Given the description of an element on the screen output the (x, y) to click on. 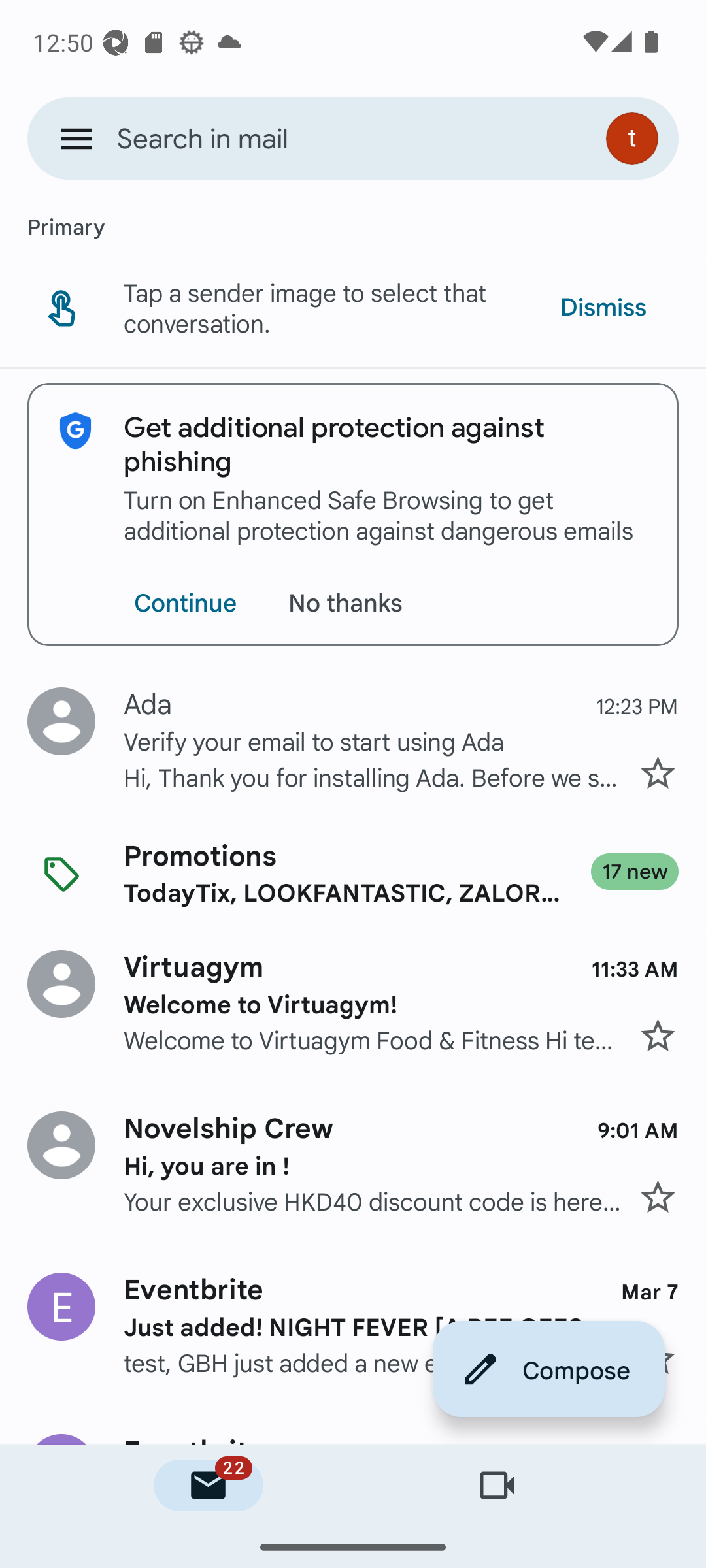
Open navigation drawer (75, 138)
Dismiss Dismiss tip (602, 306)
Continue (185, 601)
No thanks (349, 601)
Compose (548, 1368)
Meet (497, 1485)
